Given the description of an element on the screen output the (x, y) to click on. 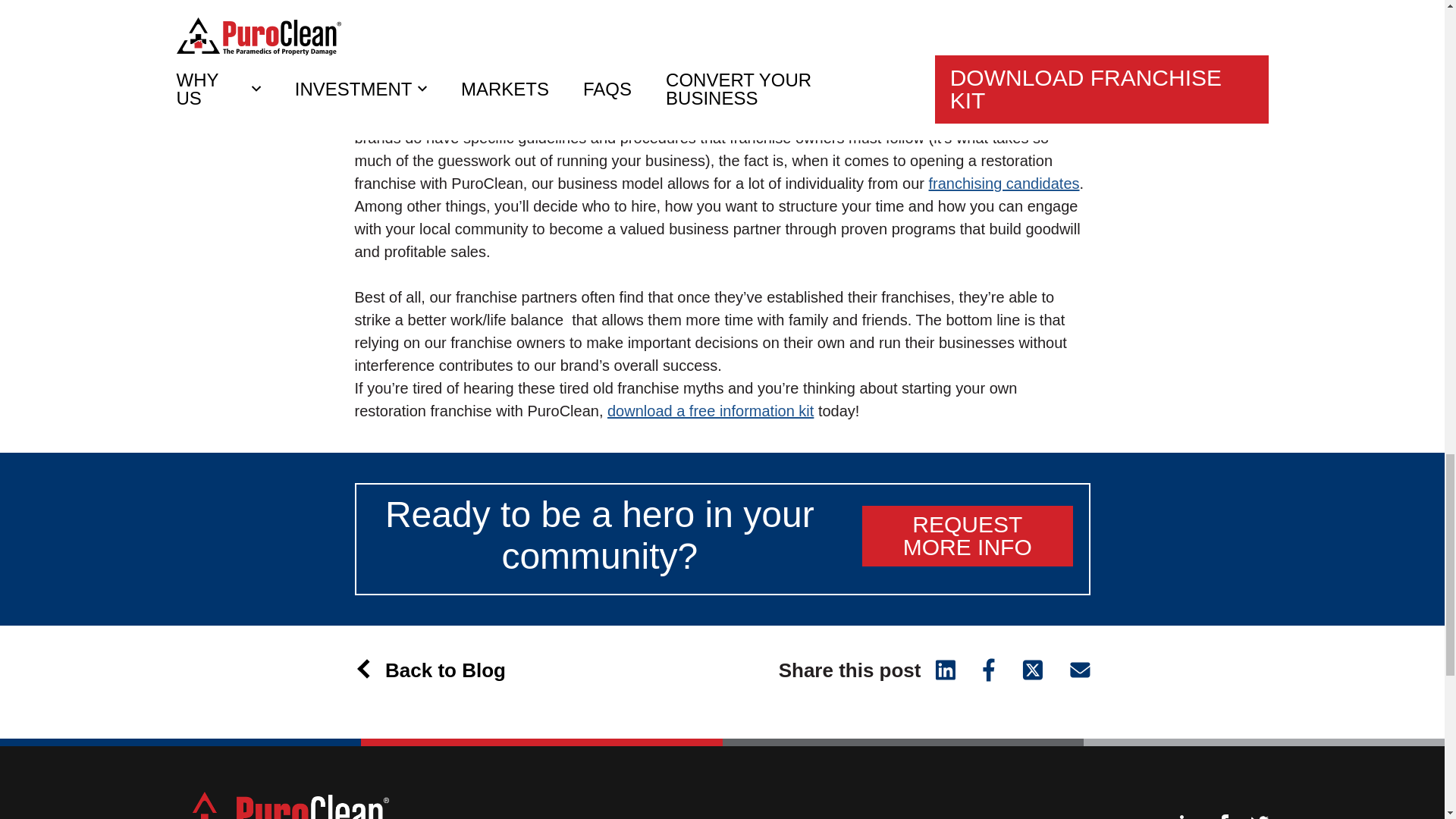
PuroClean Franchise Facebook (1223, 816)
Email this Article (1072, 668)
franchising candidates (1004, 183)
download a free information kit (710, 410)
Share on Twitter (1033, 668)
PuroClean Franchise LinkedIn (1188, 816)
Share on LinkedIn (944, 668)
Back to Blog (438, 670)
Share on Facebook (989, 668)
REQUEST MORE INFO (967, 536)
